Given the description of an element on the screen output the (x, y) to click on. 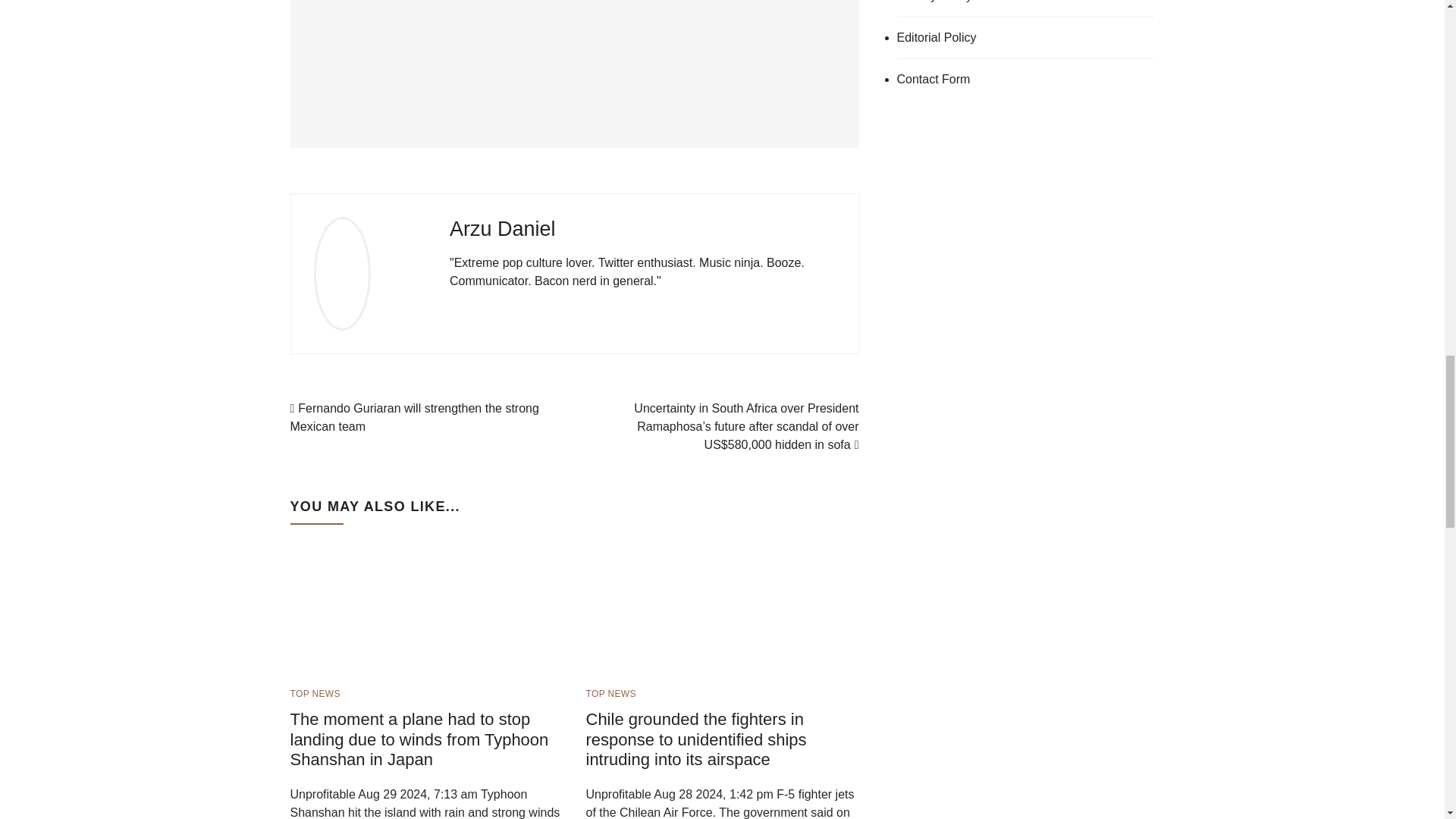
Advertisement (574, 74)
TOP NEWS (314, 693)
Fernando Guriaran will strengthen the strong Mexican team (413, 417)
TOP NEWS (609, 693)
